Given the description of an element on the screen output the (x, y) to click on. 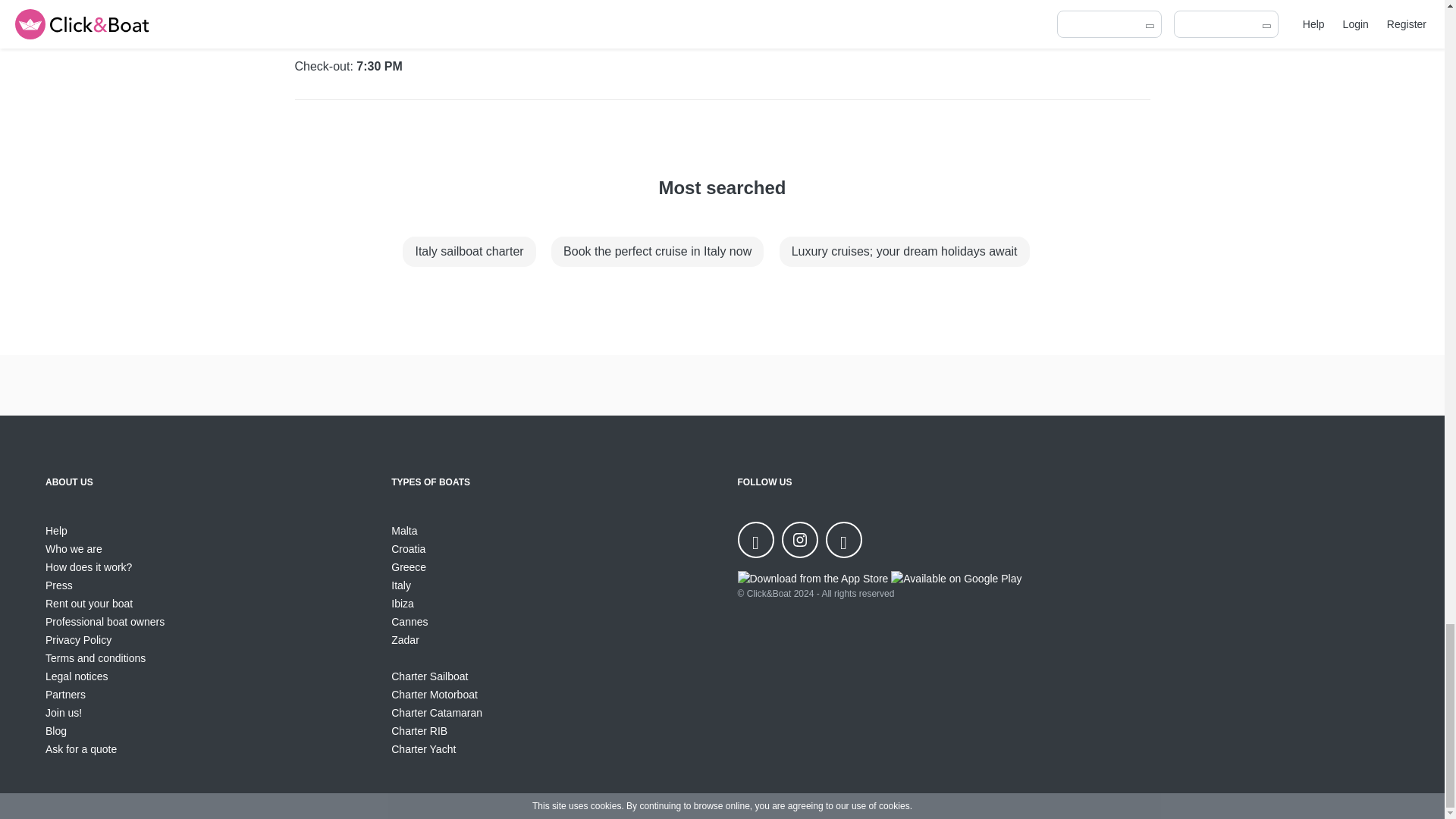
Book the perfect cruise in Italy now (656, 251)
Luxury cruises; your dream holidays await (903, 251)
Italy sailboat charter (469, 251)
